Given the description of an element on the screen output the (x, y) to click on. 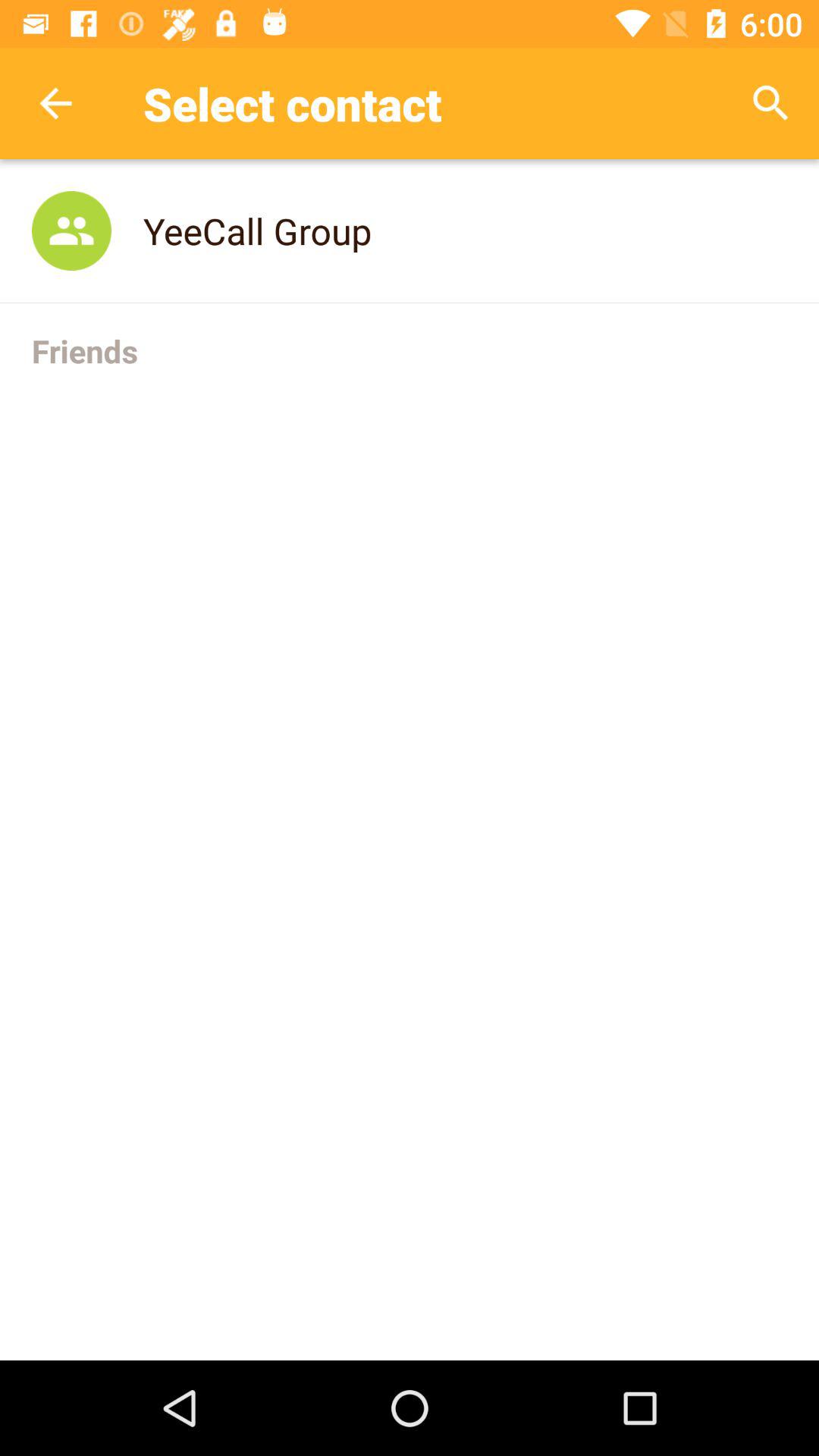
turn off app to the left of the select contact app (55, 103)
